Given the description of an element on the screen output the (x, y) to click on. 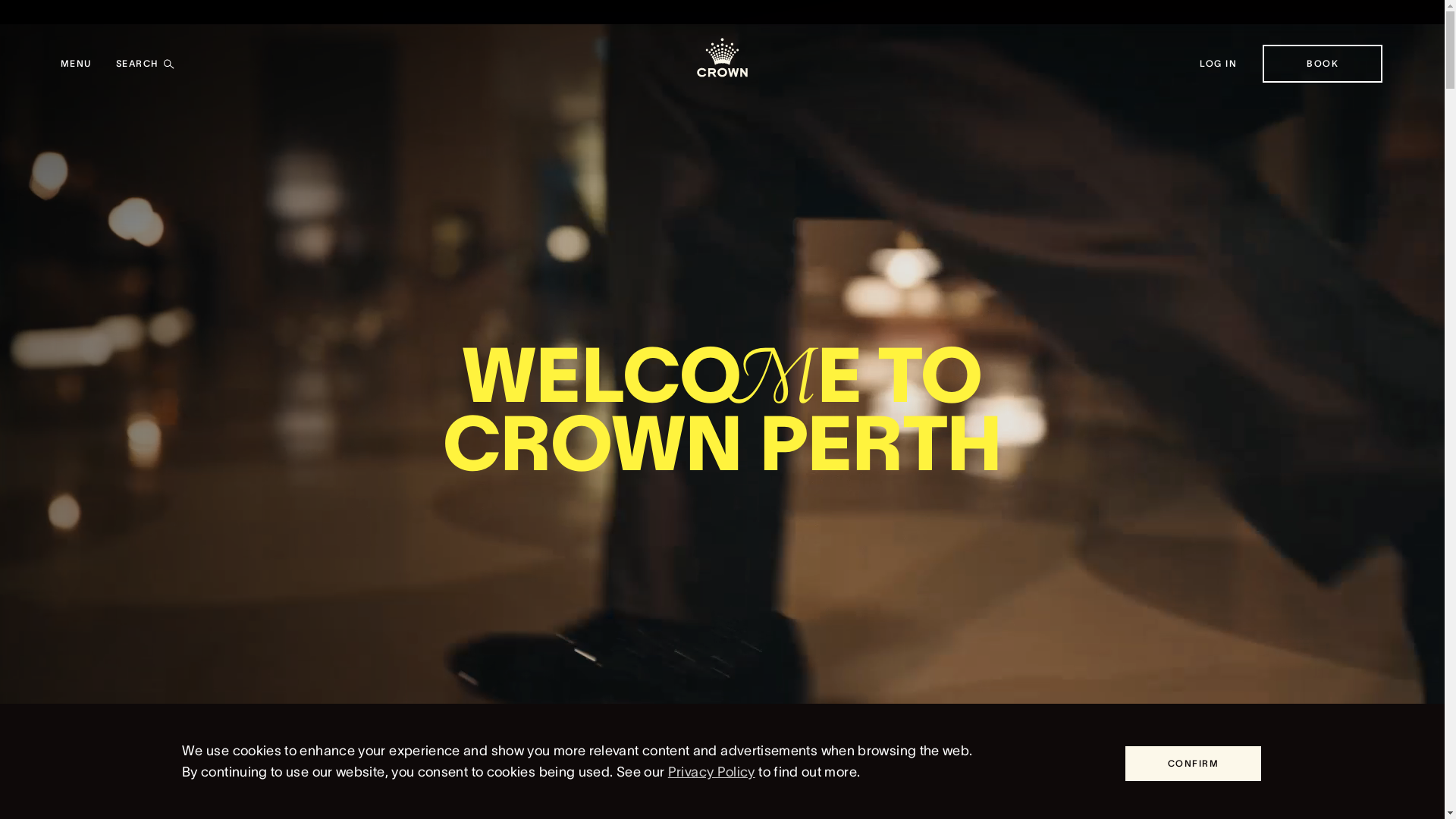
CONFIRM Element type: text (1193, 763)
MENU Element type: text (75, 63)
LOG IN Element type: text (1218, 63)
Privacy Policy Element type: text (711, 771)
SEARCH Element type: text (145, 63)
BOOK Element type: text (1322, 63)
